Given the description of an element on the screen output the (x, y) to click on. 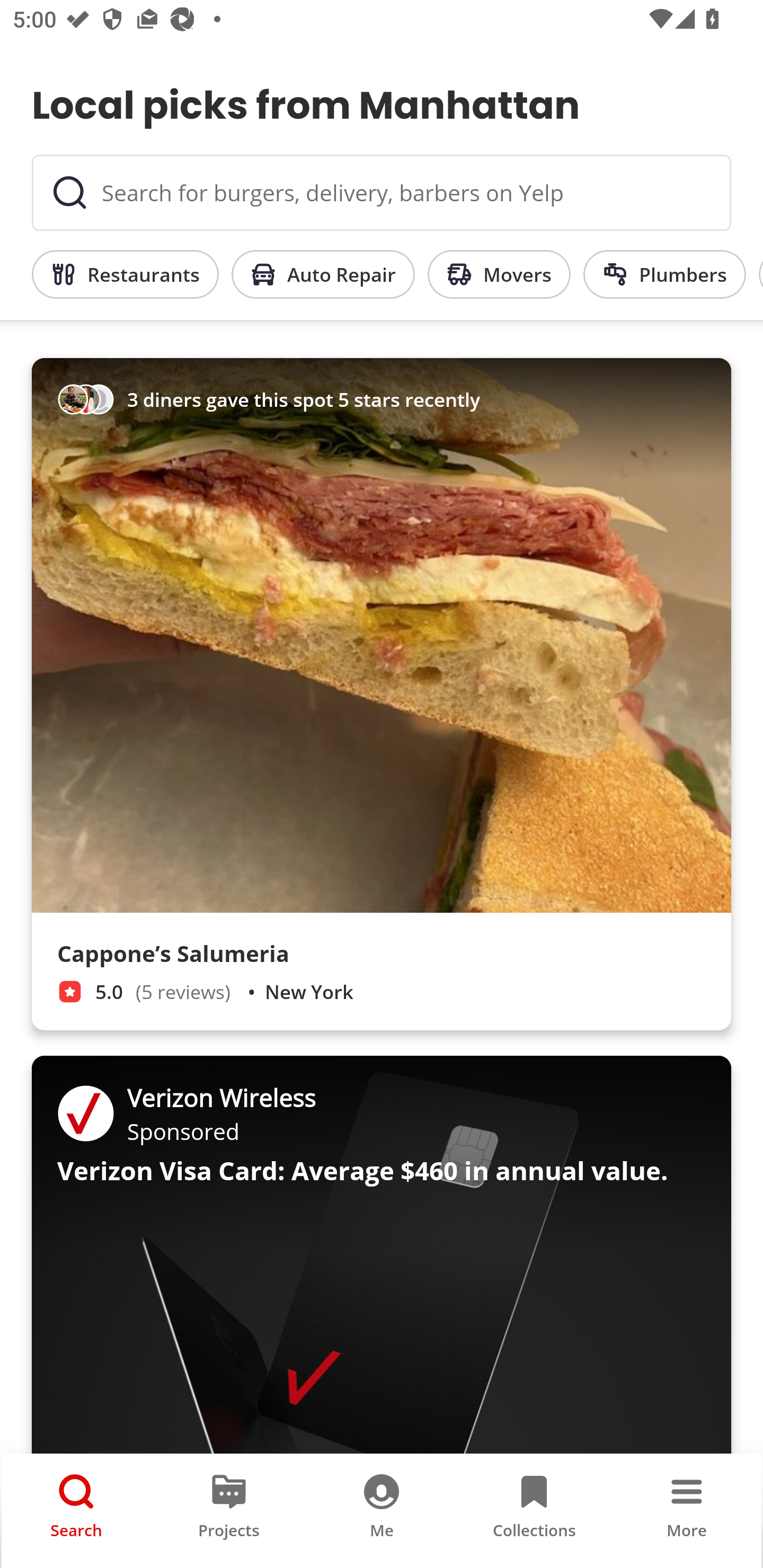
Plumbers (664, 274)
